Given the description of an element on the screen output the (x, y) to click on. 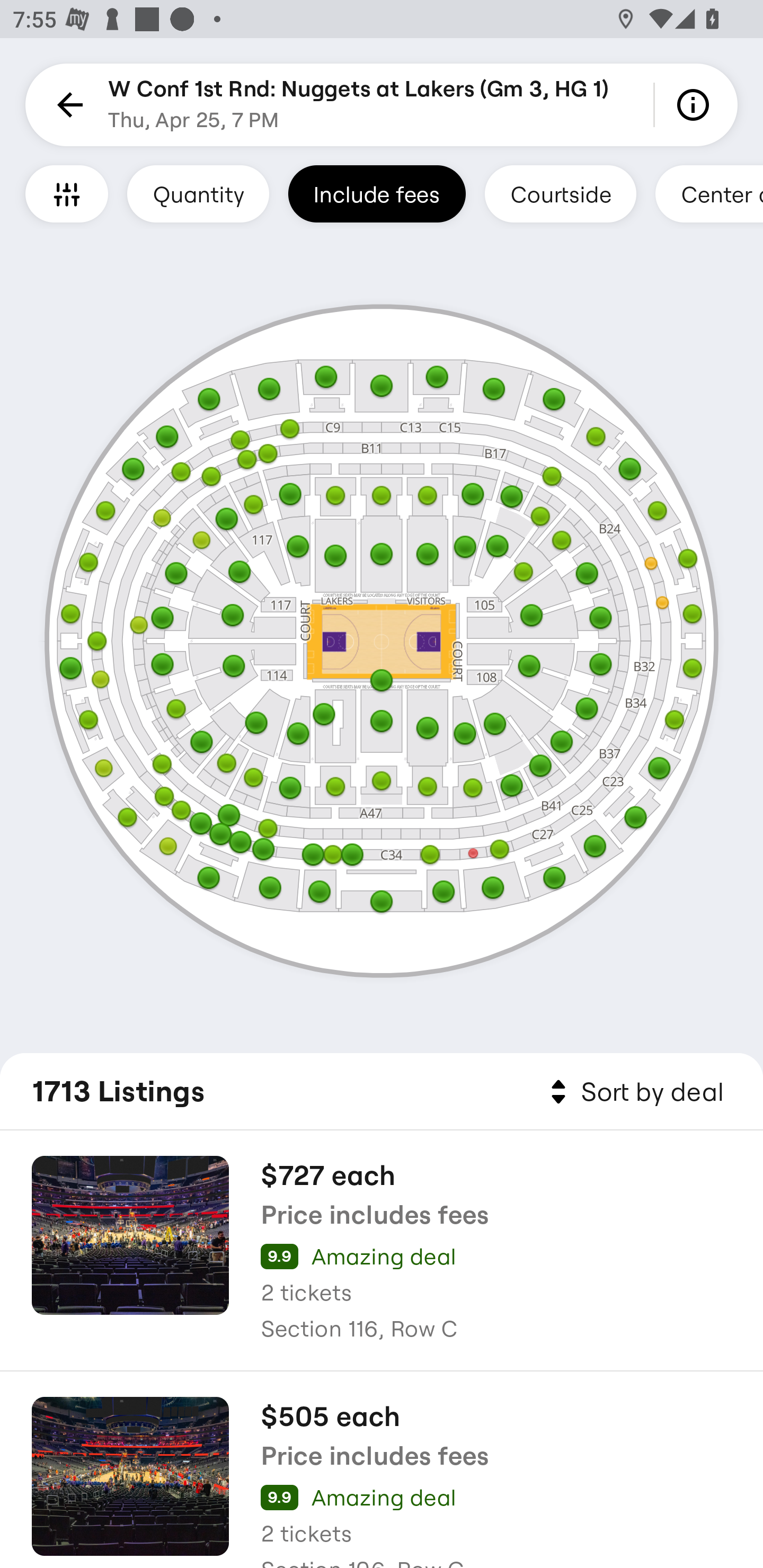
Back (66, 104)
Info (695, 104)
Filters and Accessible Seating (66, 193)
Quantity (198, 193)
Include fees (376, 193)
Courtside (560, 193)
Center court (709, 193)
Sort by deal (633, 1091)
